Given the description of an element on the screen output the (x, y) to click on. 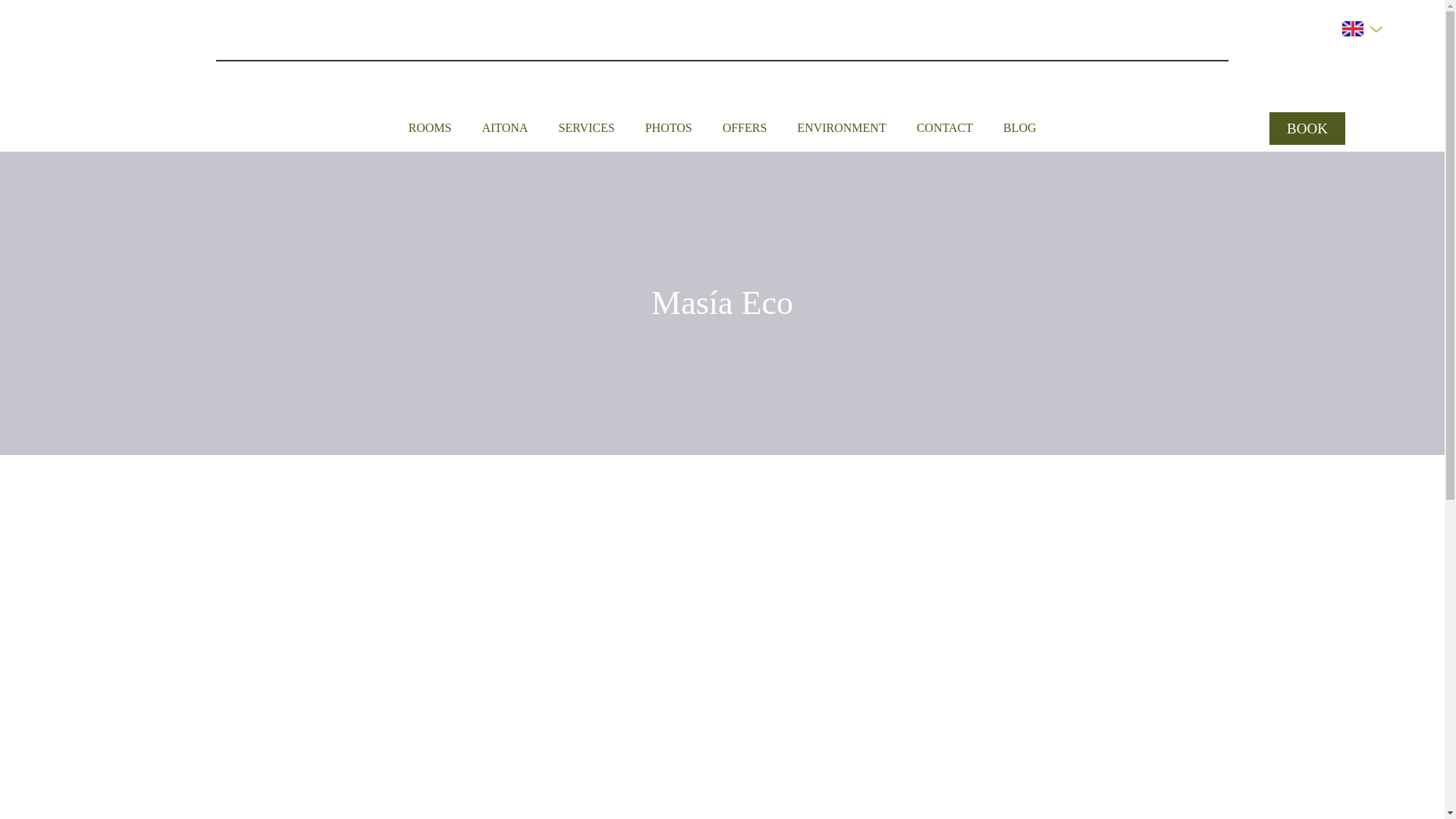
OFFERS (744, 127)
CONTACT (944, 127)
BLOG (1019, 127)
SERVICES (585, 127)
ENVIRONMENT (840, 127)
ROOMS (429, 127)
BOOK (1307, 128)
AITONA (504, 127)
PHOTOS (669, 127)
